Given the description of an element on the screen output the (x, y) to click on. 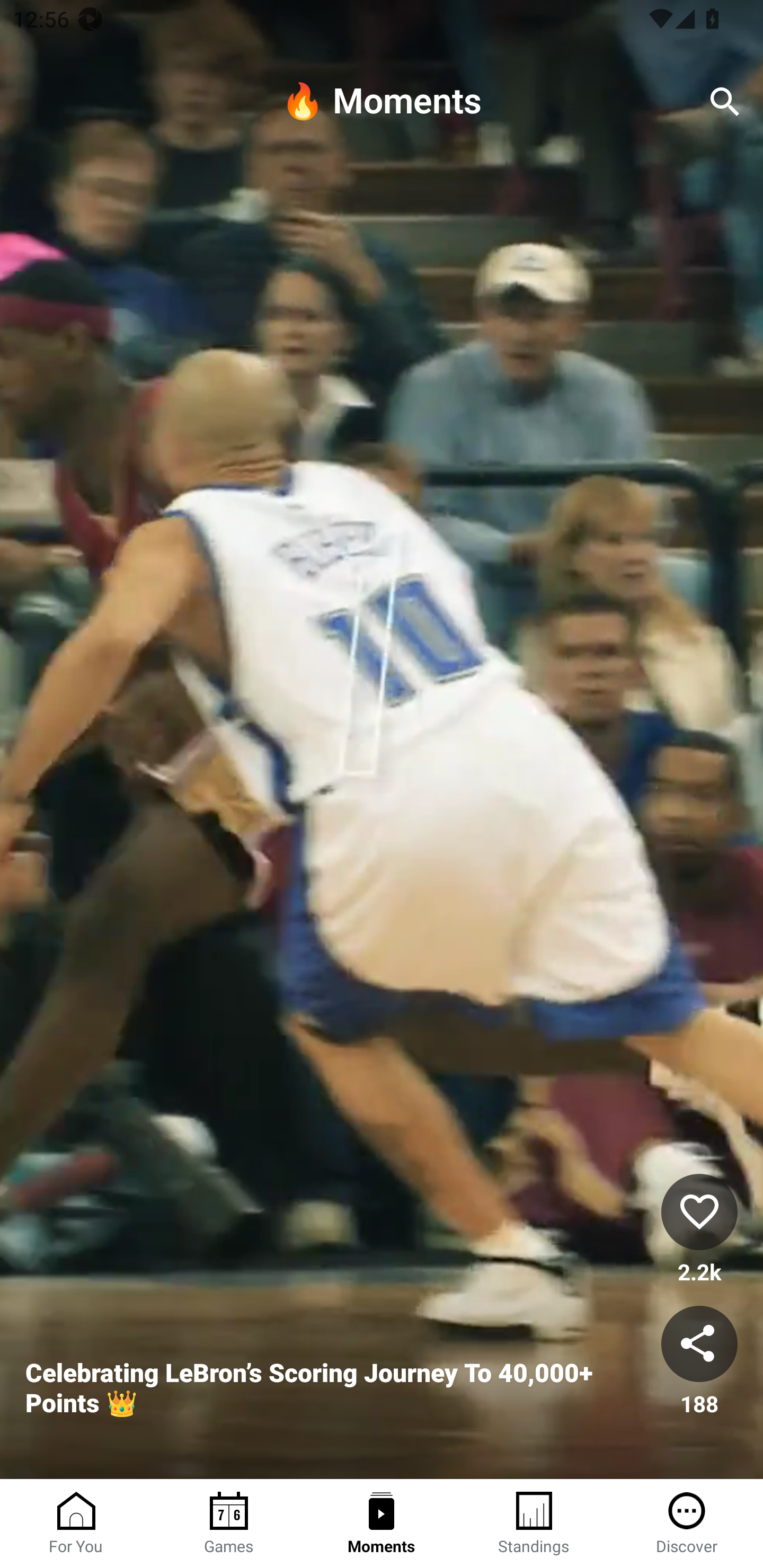
search (724, 101)
like 2.2k 2154 Likes (699, 1230)
share 188 188 Shares (699, 1362)
For You (76, 1523)
Games (228, 1523)
Standings (533, 1523)
Discover (686, 1523)
